Given the description of an element on the screen output the (x, y) to click on. 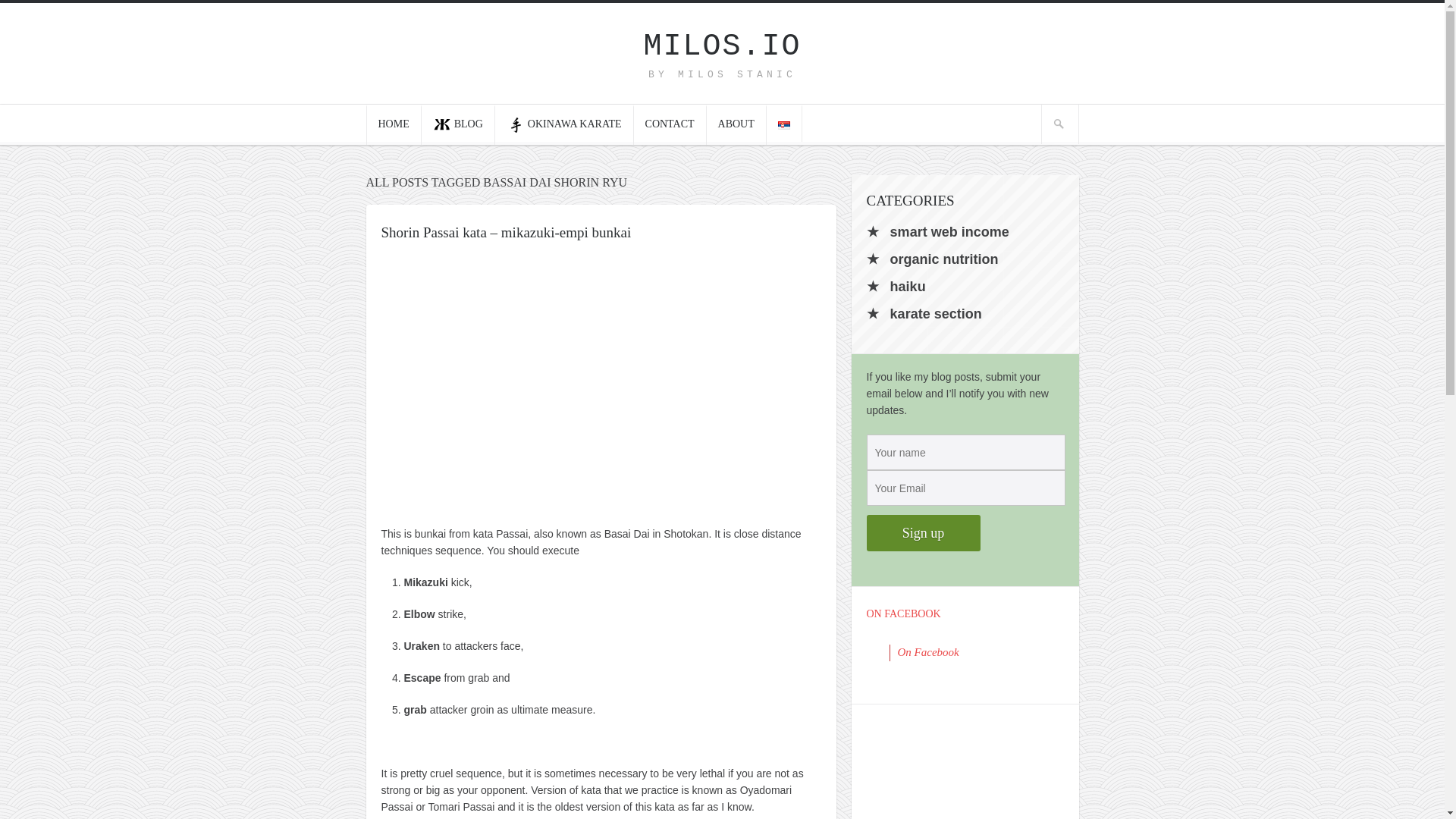
Latinica (783, 125)
Shorin Passai kata -  mikazuki-empi bunkai (600, 382)
BLOG (458, 124)
CONTACT (669, 124)
MILOS.IO (721, 46)
HOME (392, 124)
OKINAWA KARATE (564, 124)
Sign up (922, 533)
ABOUT (736, 124)
